Given the description of an element on the screen output the (x, y) to click on. 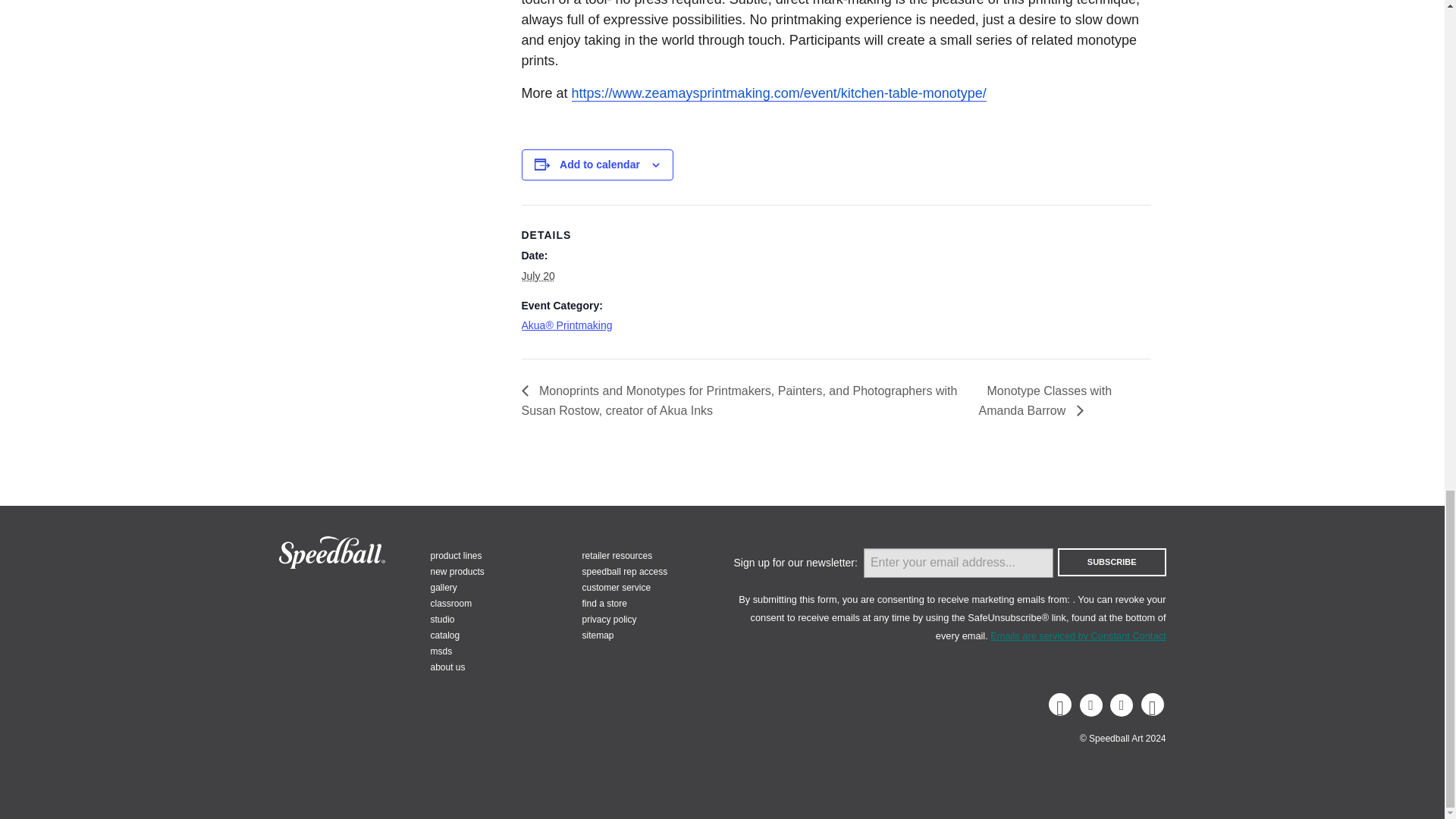
2024-07-20 (537, 275)
Subscribe (1112, 561)
